Given the description of an element on the screen output the (x, y) to click on. 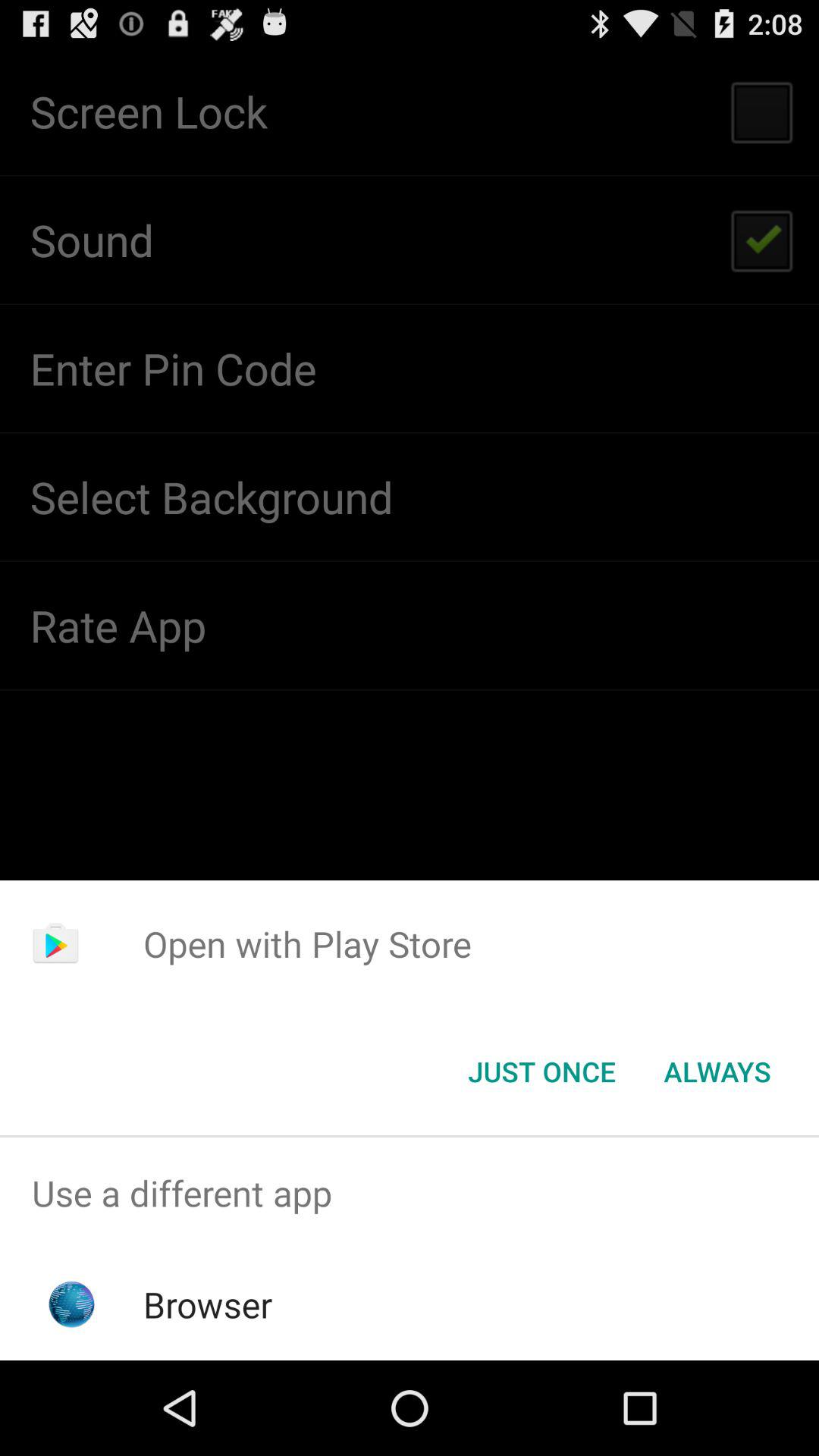
launch always at the bottom right corner (717, 1071)
